Given the description of an element on the screen output the (x, y) to click on. 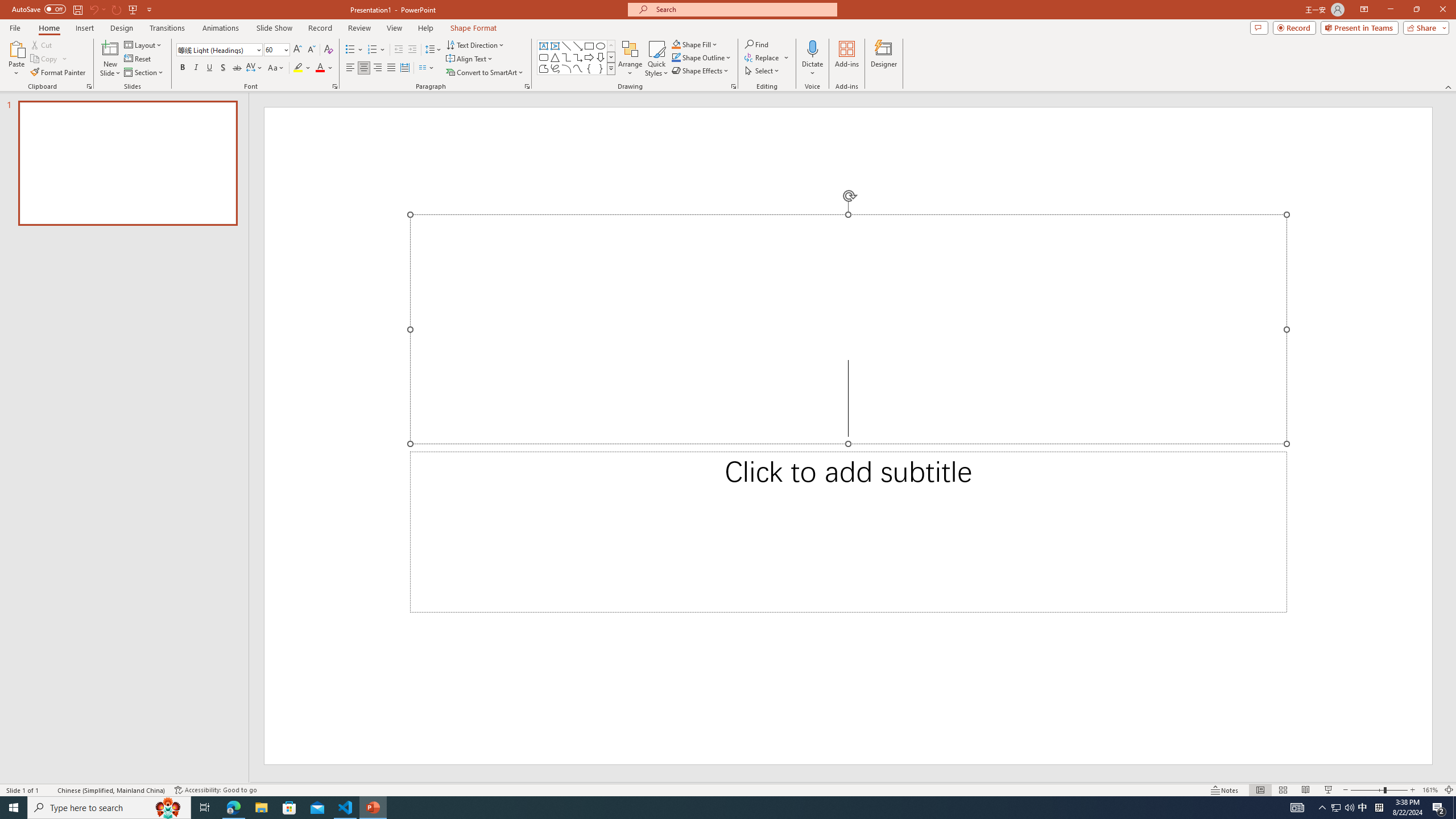
Accessibility Checker Accessibility: Good to go (216, 790)
Shape Effects (700, 69)
